Given the description of an element on the screen output the (x, y) to click on. 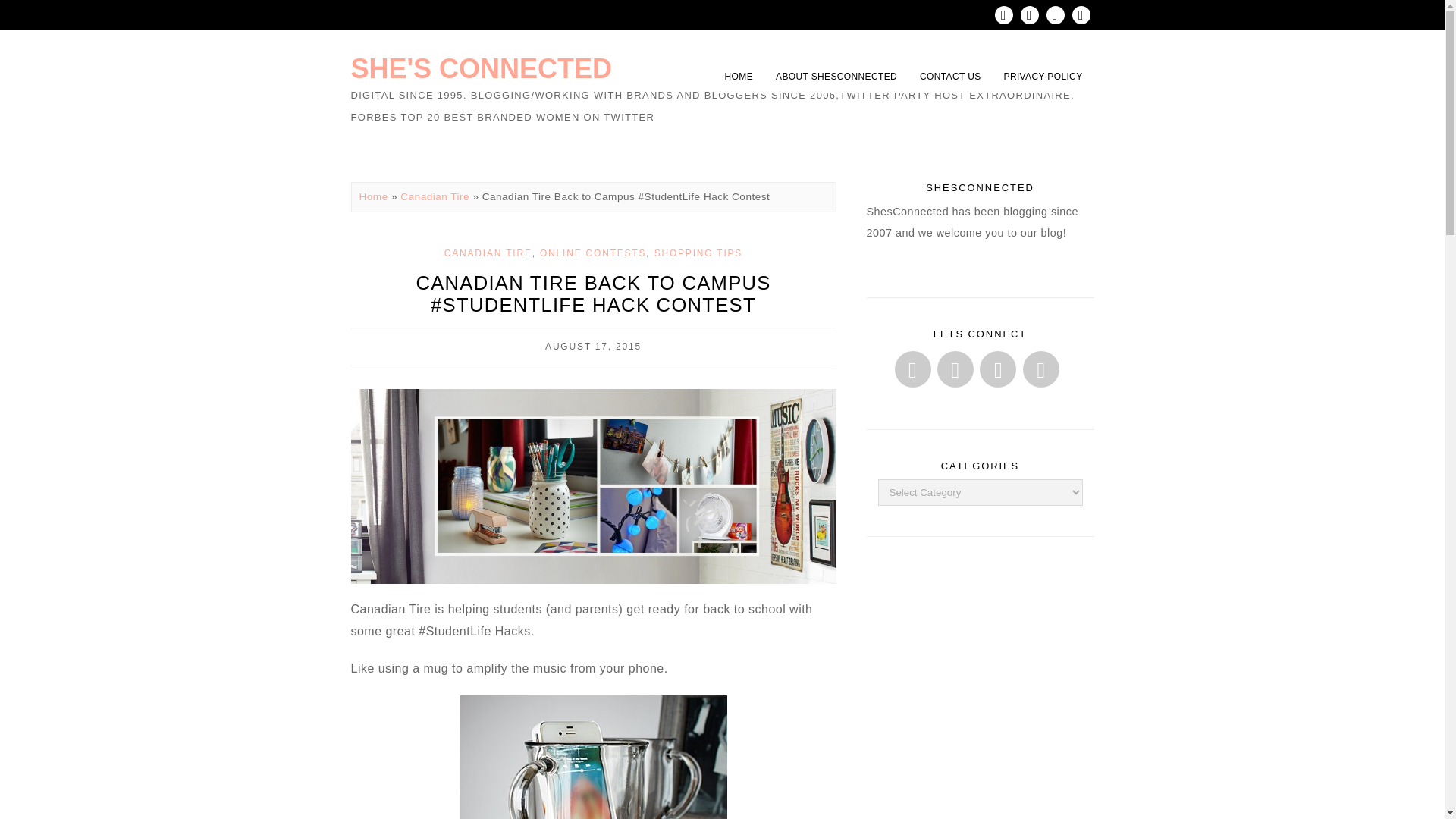
SHE'S CONNECTED (480, 68)
ABOUT SHESCONNECTED (836, 76)
ONLINE CONTESTS (593, 253)
HOME (738, 76)
CONTACT US (950, 76)
PRIVACY POLICY (1043, 76)
Home (373, 196)
Canadian Tire (434, 196)
SHOPPING TIPS (697, 253)
CANADIAN TIRE (488, 253)
